Given the description of an element on the screen output the (x, y) to click on. 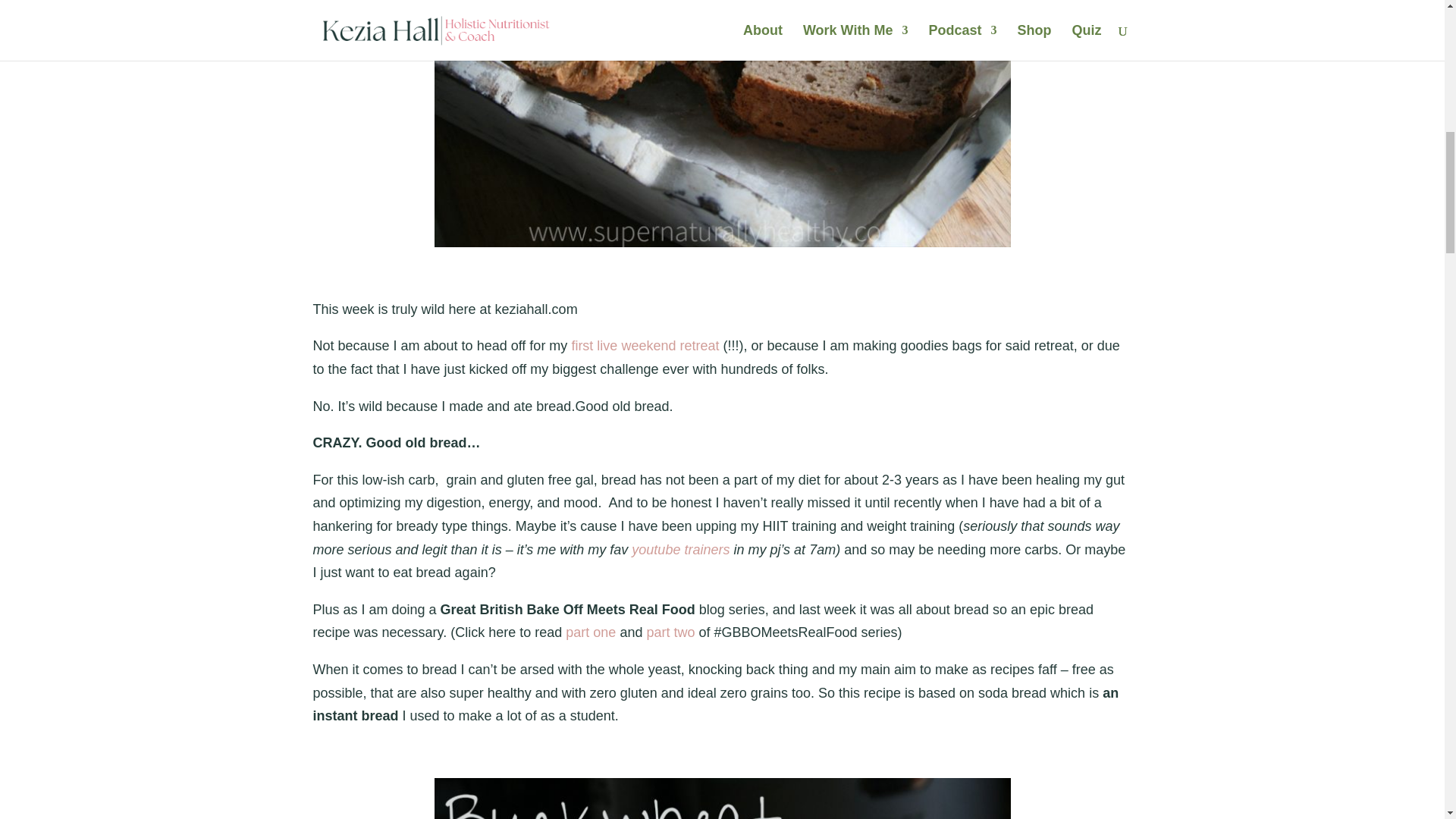
youtube trainers (678, 549)
part two (670, 631)
first live weekend retreat (644, 345)
part one (590, 631)
